Given the description of an element on the screen output the (x, y) to click on. 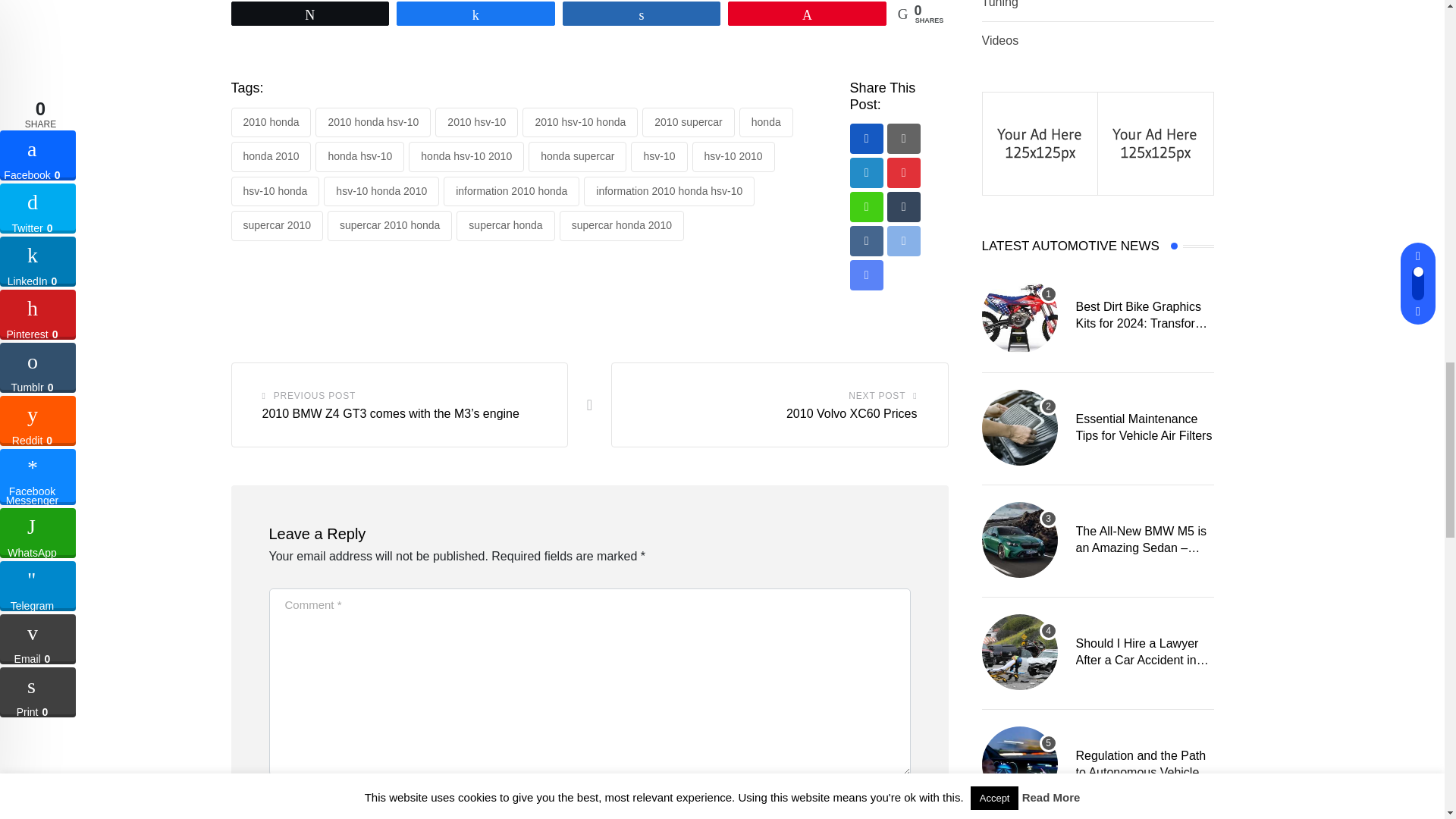
Should I Hire a Lawyer After a Car Accident in Dallas, TX? (1019, 652)
Essential Maintenance Tips for Vehicle Air Filters (1019, 427)
Best Dirt Bike Graphics Kits for 2024: Transform Your Ride (1019, 314)
Advertise (1039, 141)
Advertise (1155, 141)
